Given the description of an element on the screen output the (x, y) to click on. 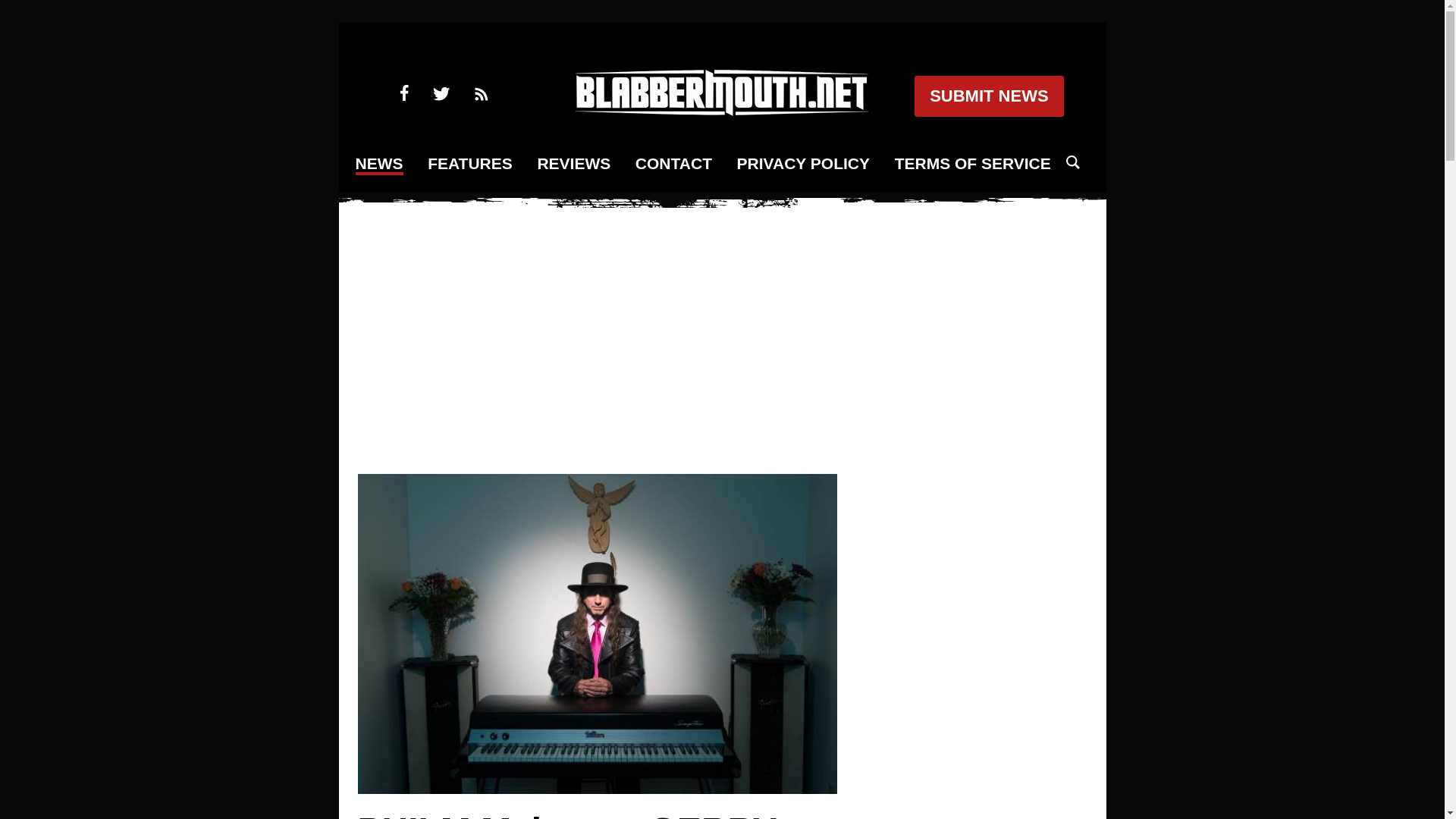
SUBMIT NEWS (988, 96)
REVIEWS (573, 163)
FEATURES (470, 163)
blabbermouth (721, 110)
PRIVACY POLICY (802, 163)
NEWS (379, 164)
CONTACT (672, 163)
search icon (1072, 161)
TERMS OF SERVICE (973, 163)
